Given the description of an element on the screen output the (x, y) to click on. 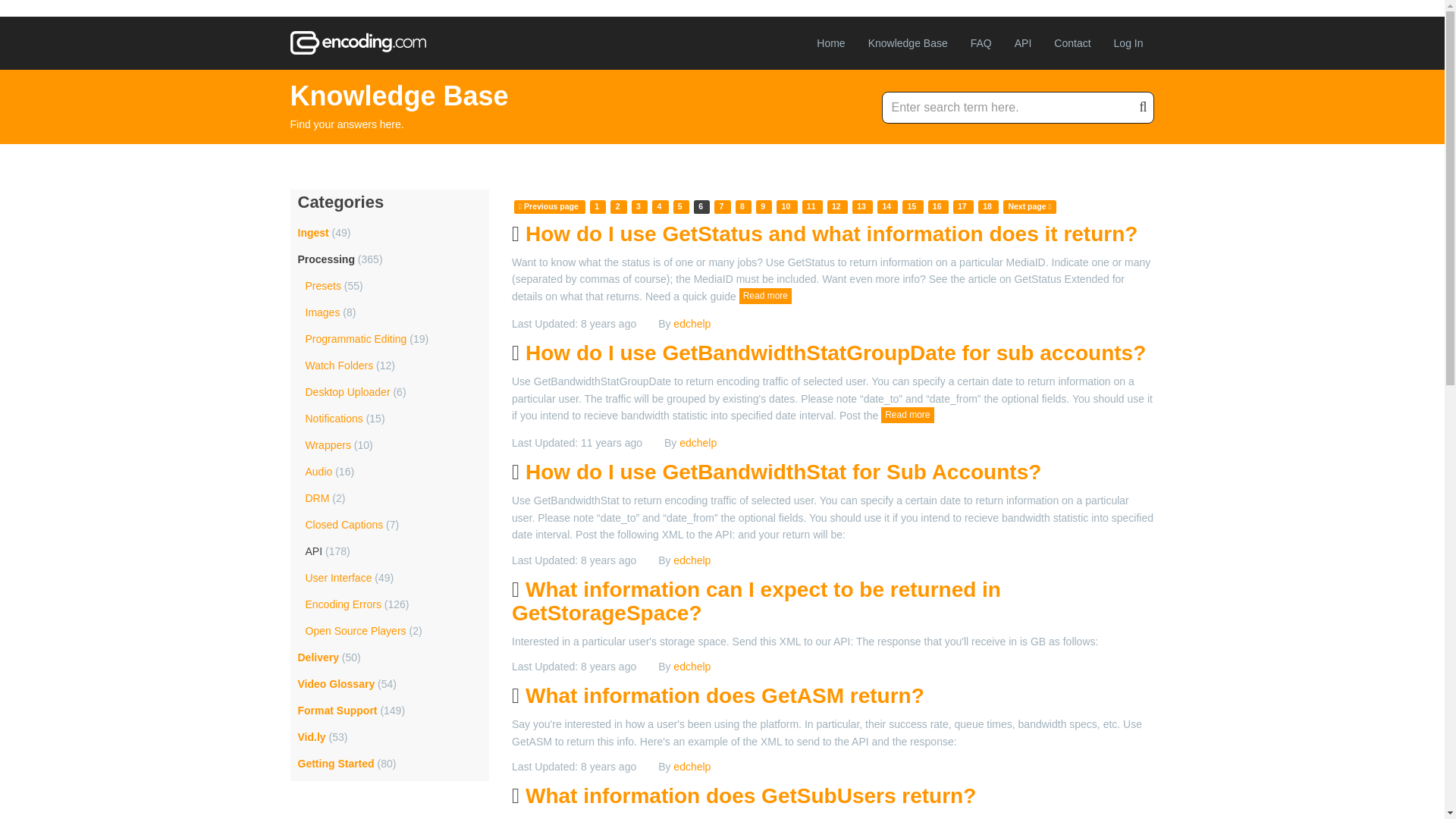
Common video transcoding terms and their definitions. (335, 684)
10 (785, 205)
12 (836, 205)
edchelp (697, 442)
14 (886, 205)
edchelp (691, 323)
16 (937, 205)
How do I use GetStatus and what information does it return? (831, 233)
18 (986, 205)
Previous page (548, 205)
Next page (1029, 205)
All the supported formats for the Encoding.com platform. (337, 710)
Read more (765, 295)
